Given the description of an element on the screen output the (x, y) to click on. 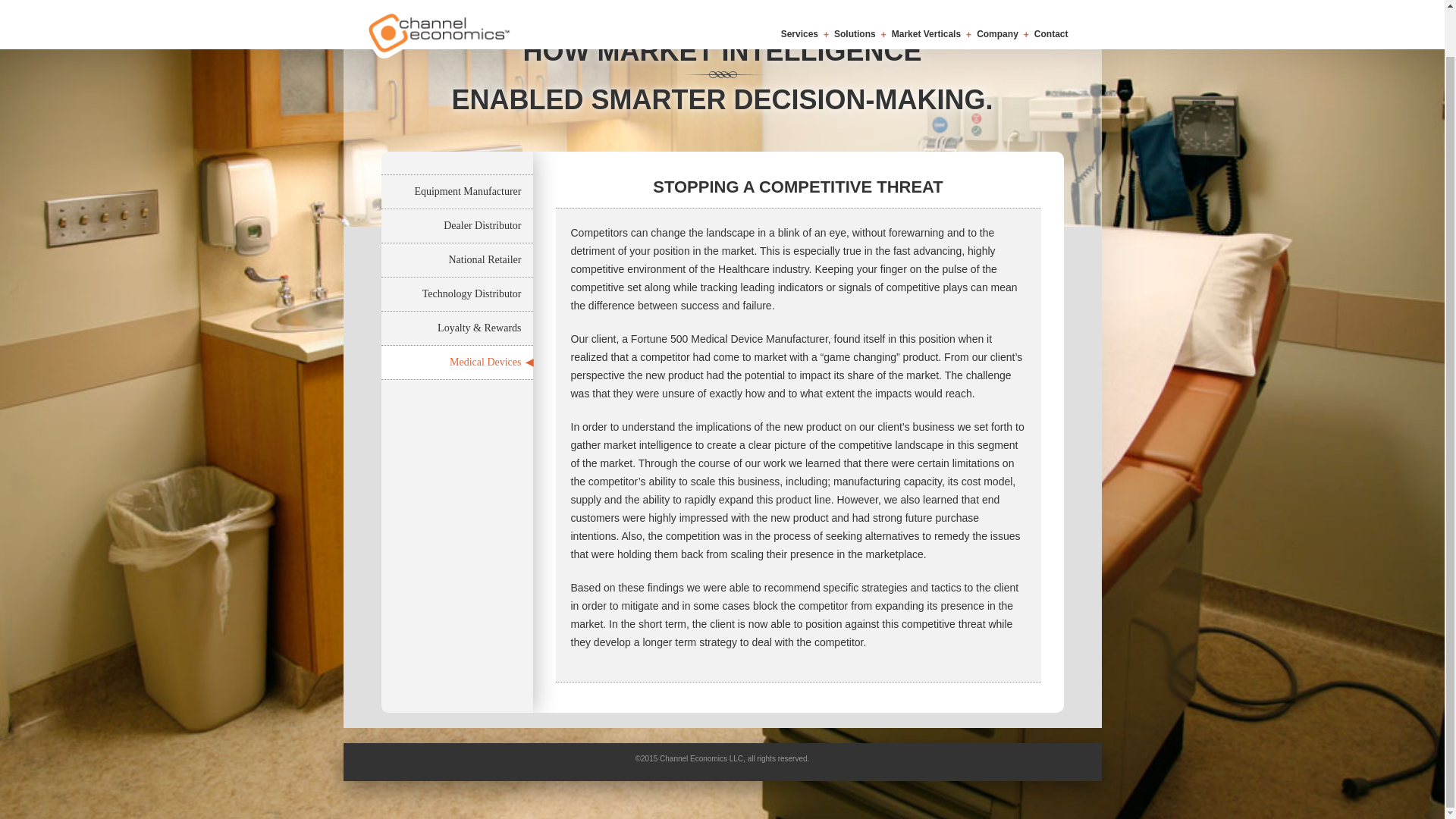
Dealer Distributor (456, 225)
National Retailer (456, 259)
Equipment Manufacturer (456, 191)
Technology Distributor (456, 294)
Medical Devices (456, 362)
